Given the description of an element on the screen output the (x, y) to click on. 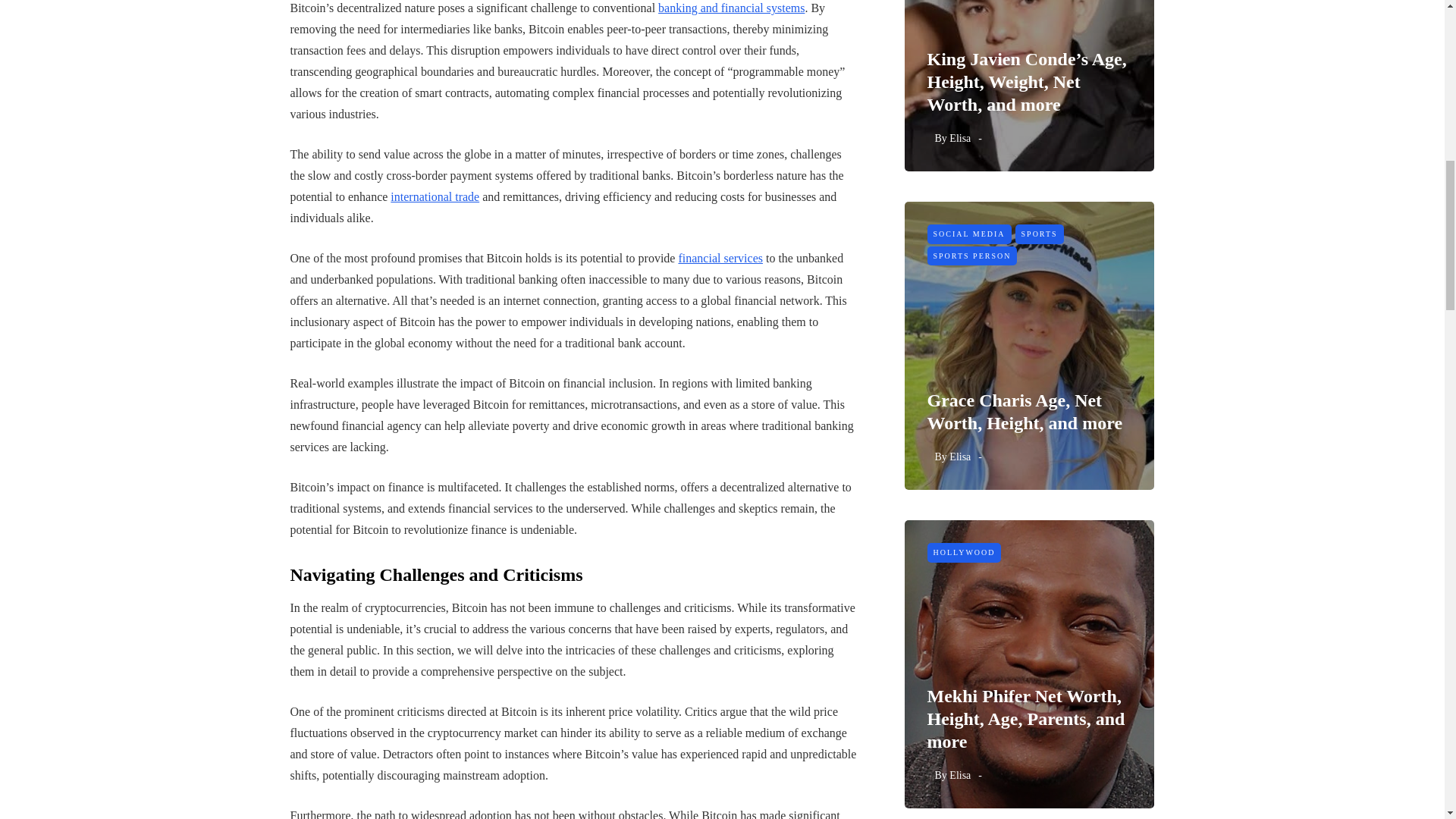
financial services (720, 257)
international trade (434, 196)
banking and financial systems (731, 7)
